Given the description of an element on the screen output the (x, y) to click on. 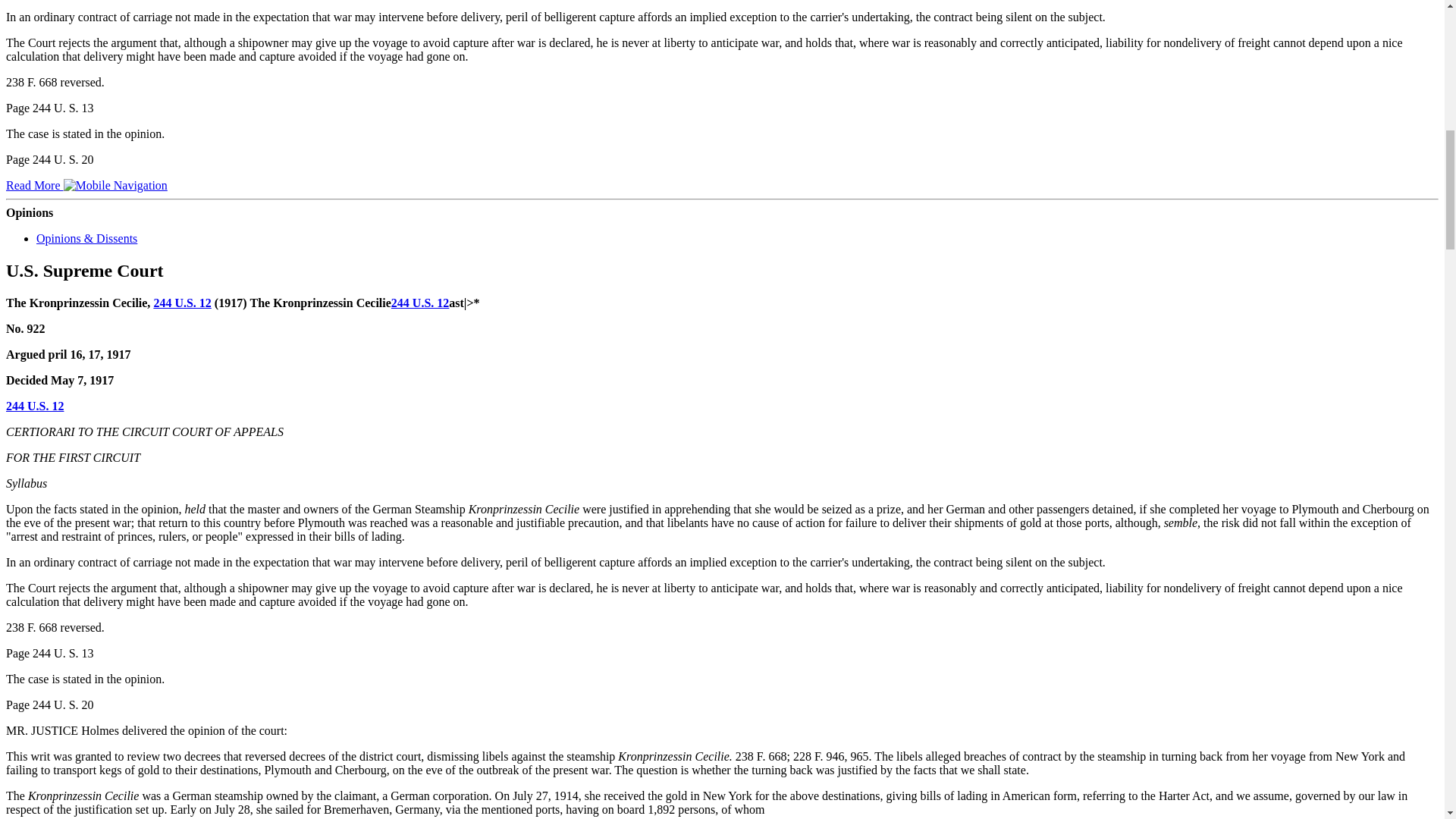
244 U.S. 12 (181, 301)
Page 244 U. S. 13 (49, 107)
Read More (86, 185)
Page 244 U. S. 20 (49, 159)
Mobile Navigation (115, 185)
